Given the description of an element on the screen output the (x, y) to click on. 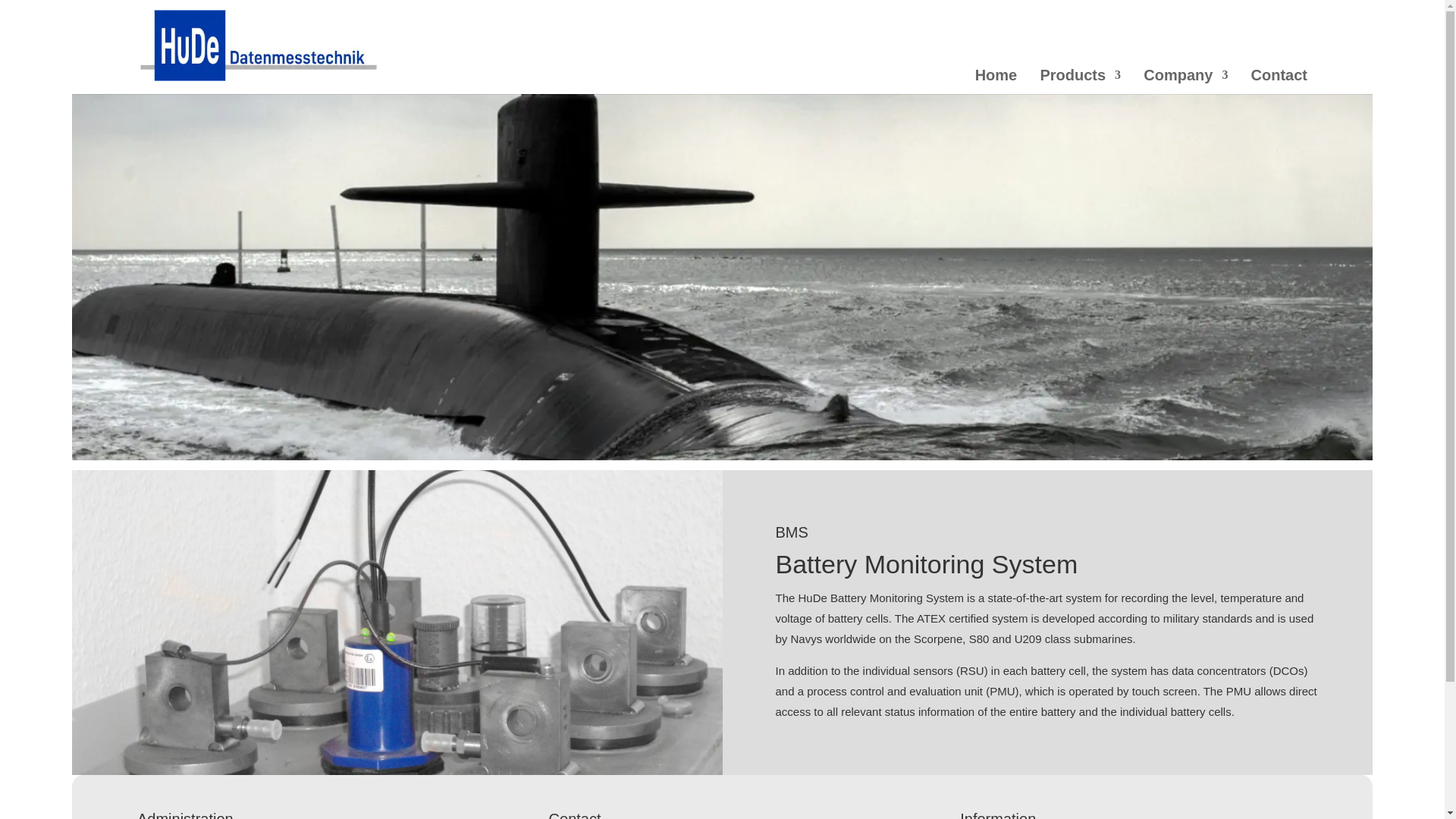
Home (994, 81)
Products (1078, 81)
Contact (1277, 81)
Company (1183, 81)
